Given the description of an element on the screen output the (x, y) to click on. 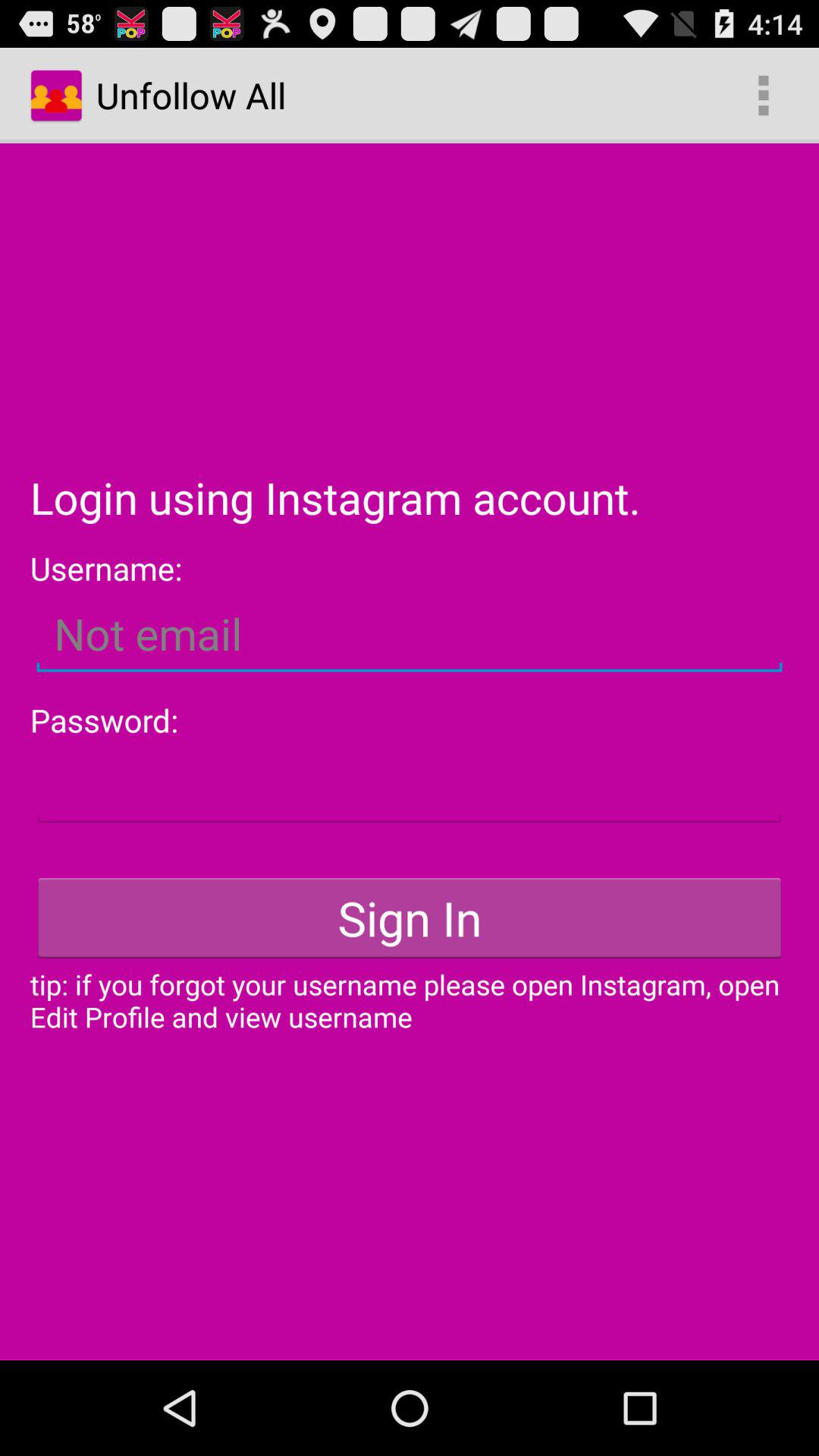
select the item next to the unfollow all (763, 95)
